Given the description of an element on the screen output the (x, y) to click on. 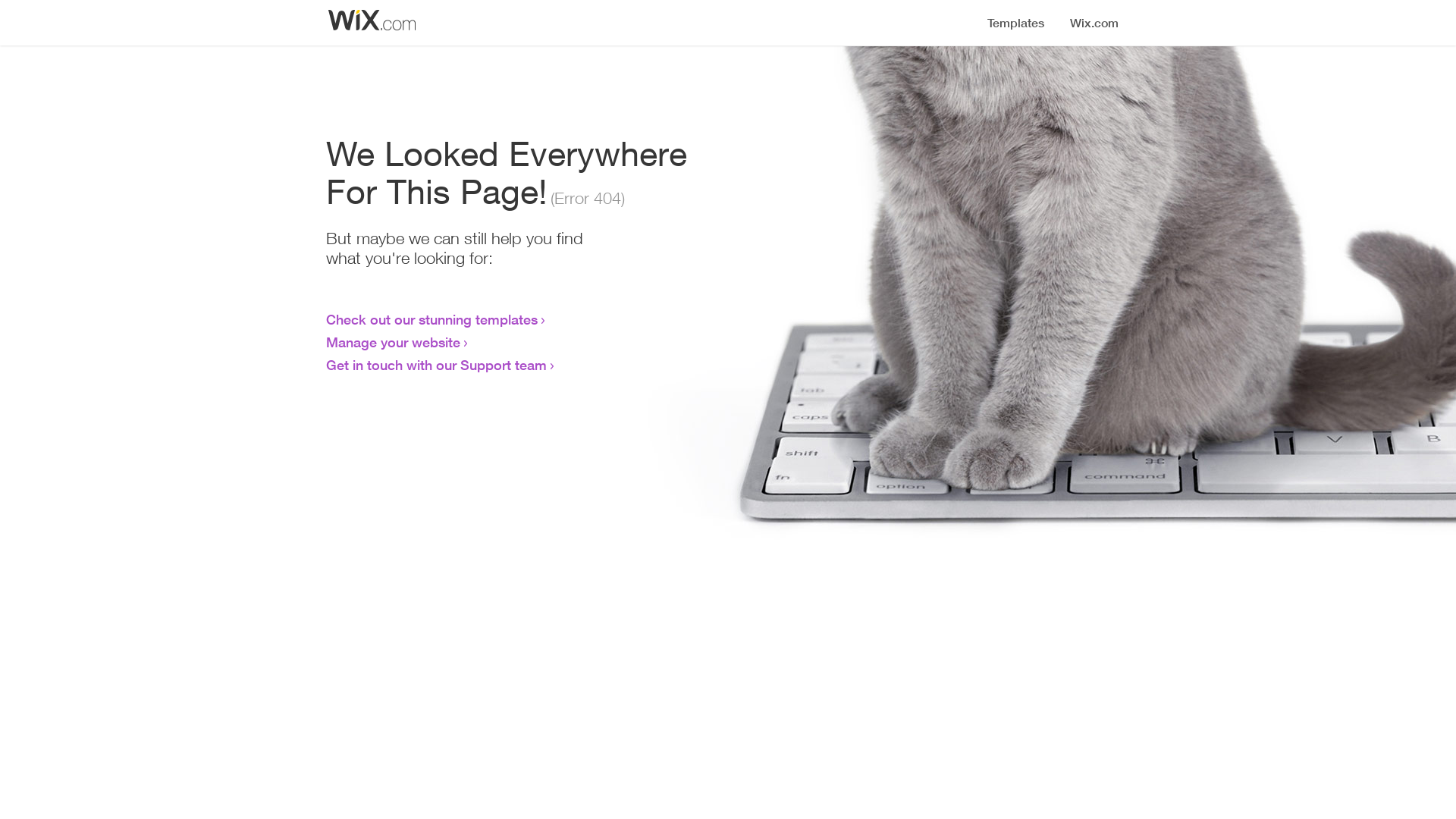
Check out our stunning templates Element type: text (431, 318)
Get in touch with our Support team Element type: text (436, 364)
Manage your website Element type: text (393, 341)
